Given the description of an element on the screen output the (x, y) to click on. 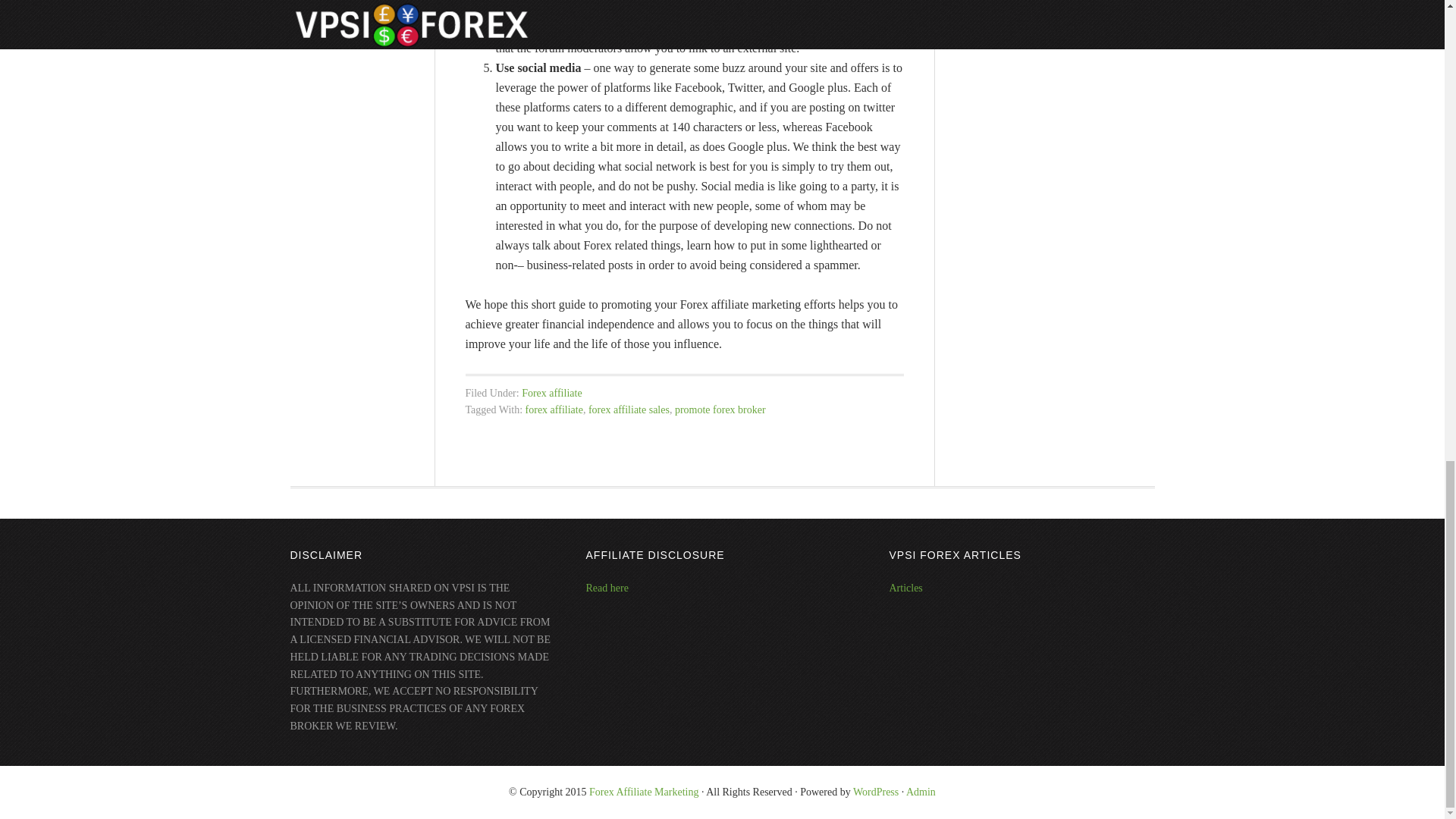
Admin (920, 791)
WordPress (875, 791)
forex affiliate sales (628, 409)
Forex Affiliate Marketing (643, 791)
promote forex broker (720, 409)
Forex affiliate (550, 392)
Articles (904, 587)
forex affiliate (554, 409)
Read here (606, 587)
